Given the description of an element on the screen output the (x, y) to click on. 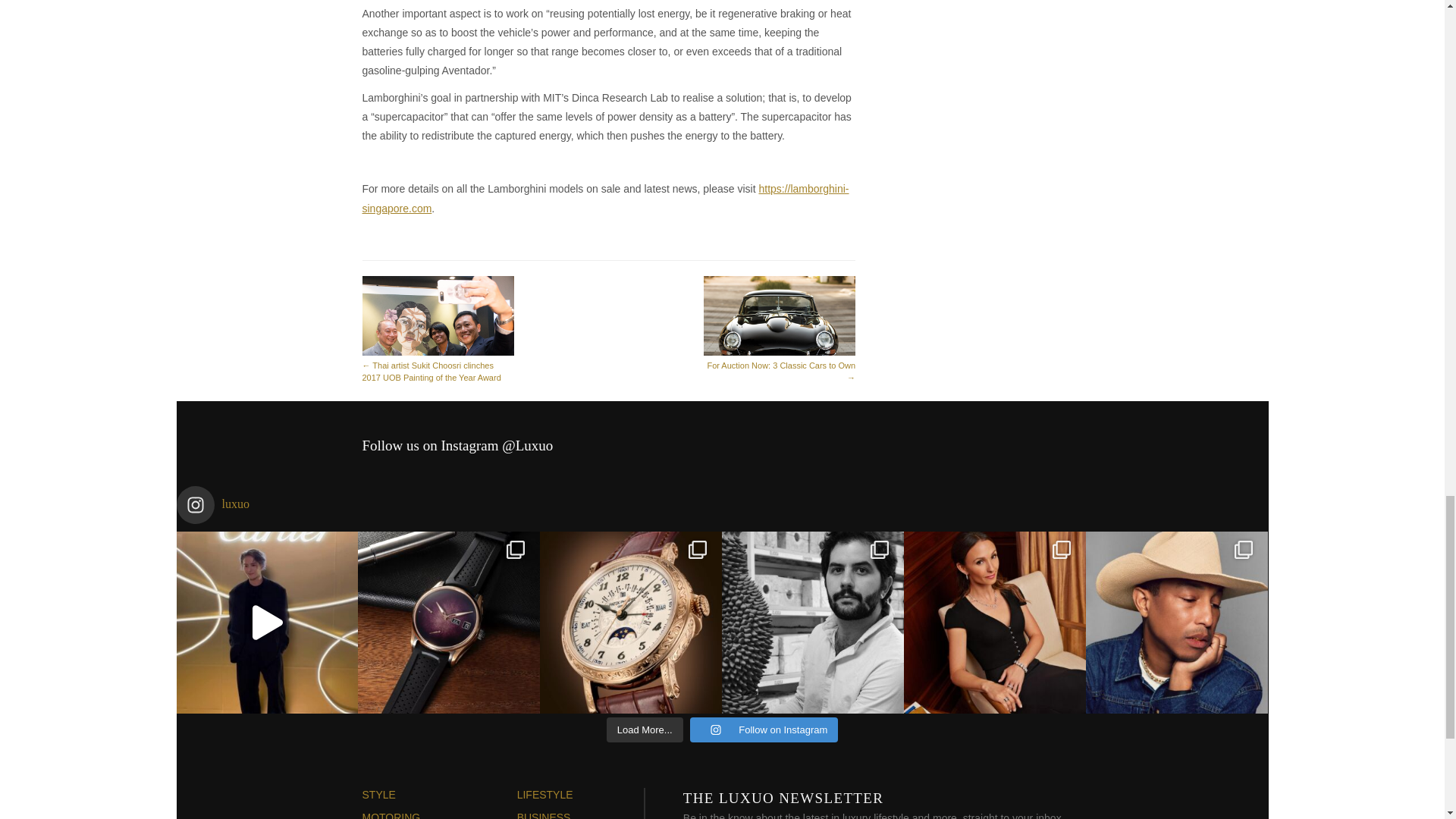
Next article : For Auction Now: 3 Classic Cars to Own (779, 330)
